Given the description of an element on the screen output the (x, y) to click on. 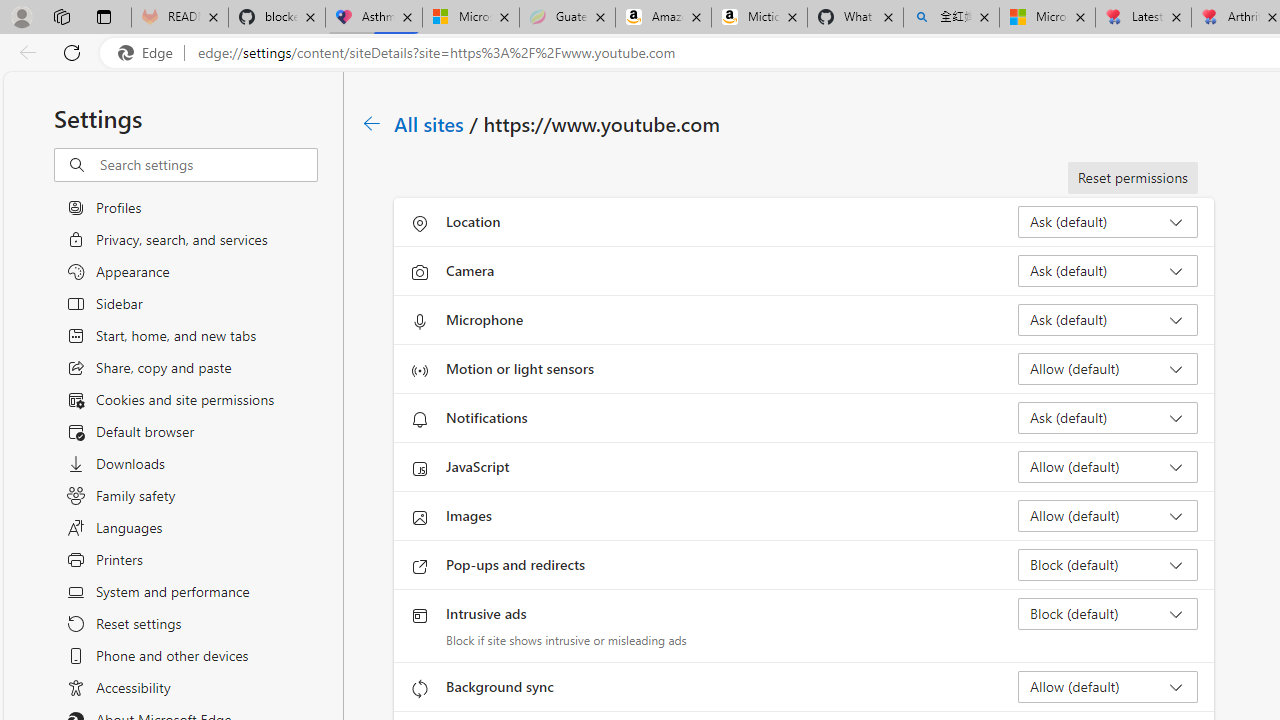
Images Allow (default) (1107, 515)
Microsoft-Report a Concern to Bing (470, 17)
